Given the description of an element on the screen output the (x, y) to click on. 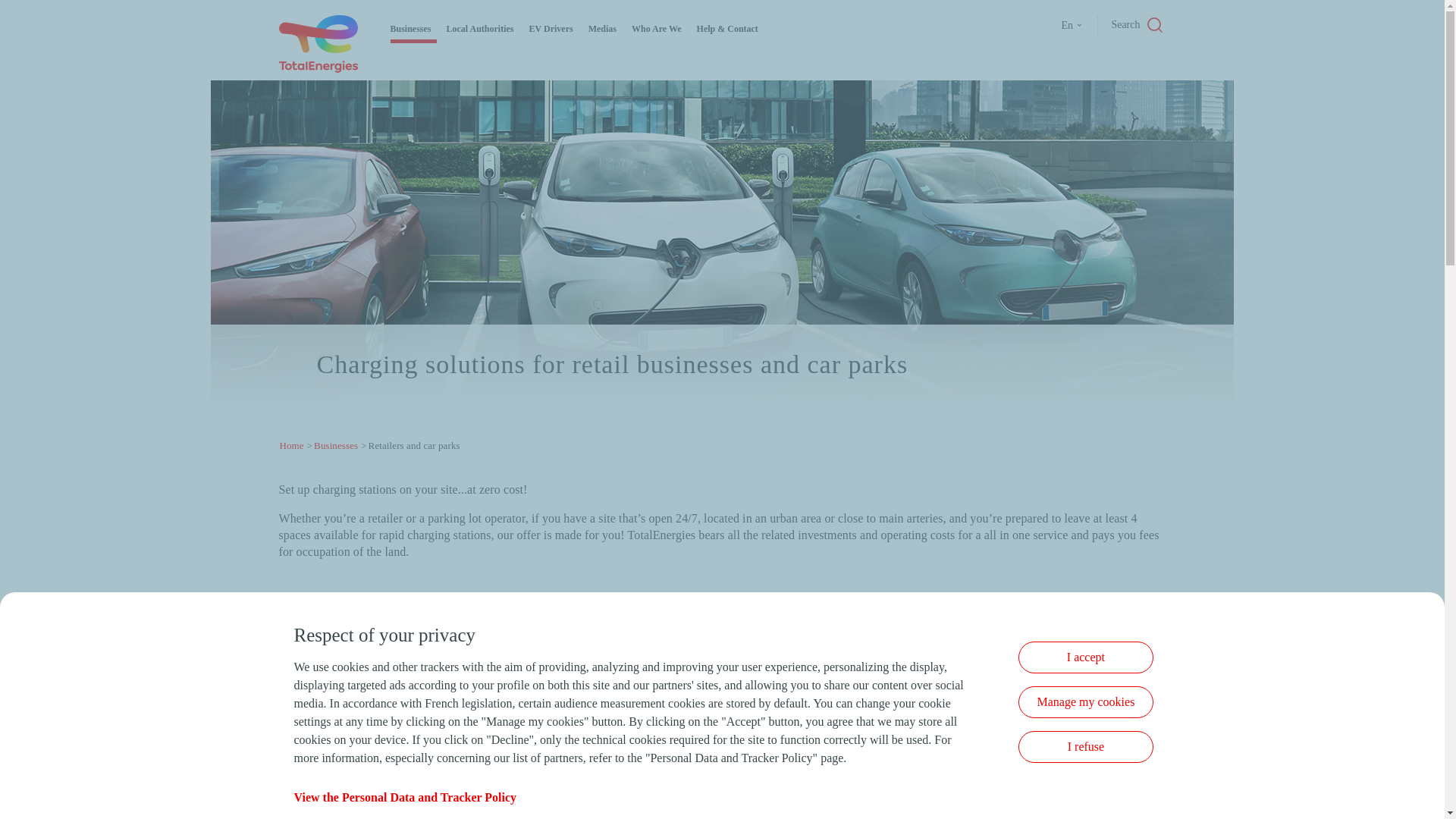
Who Are We (656, 28)
Local Authorities (479, 28)
English version (1073, 25)
Medias (601, 28)
Businesses (410, 28)
EV Drivers (551, 28)
